Given the description of an element on the screen output the (x, y) to click on. 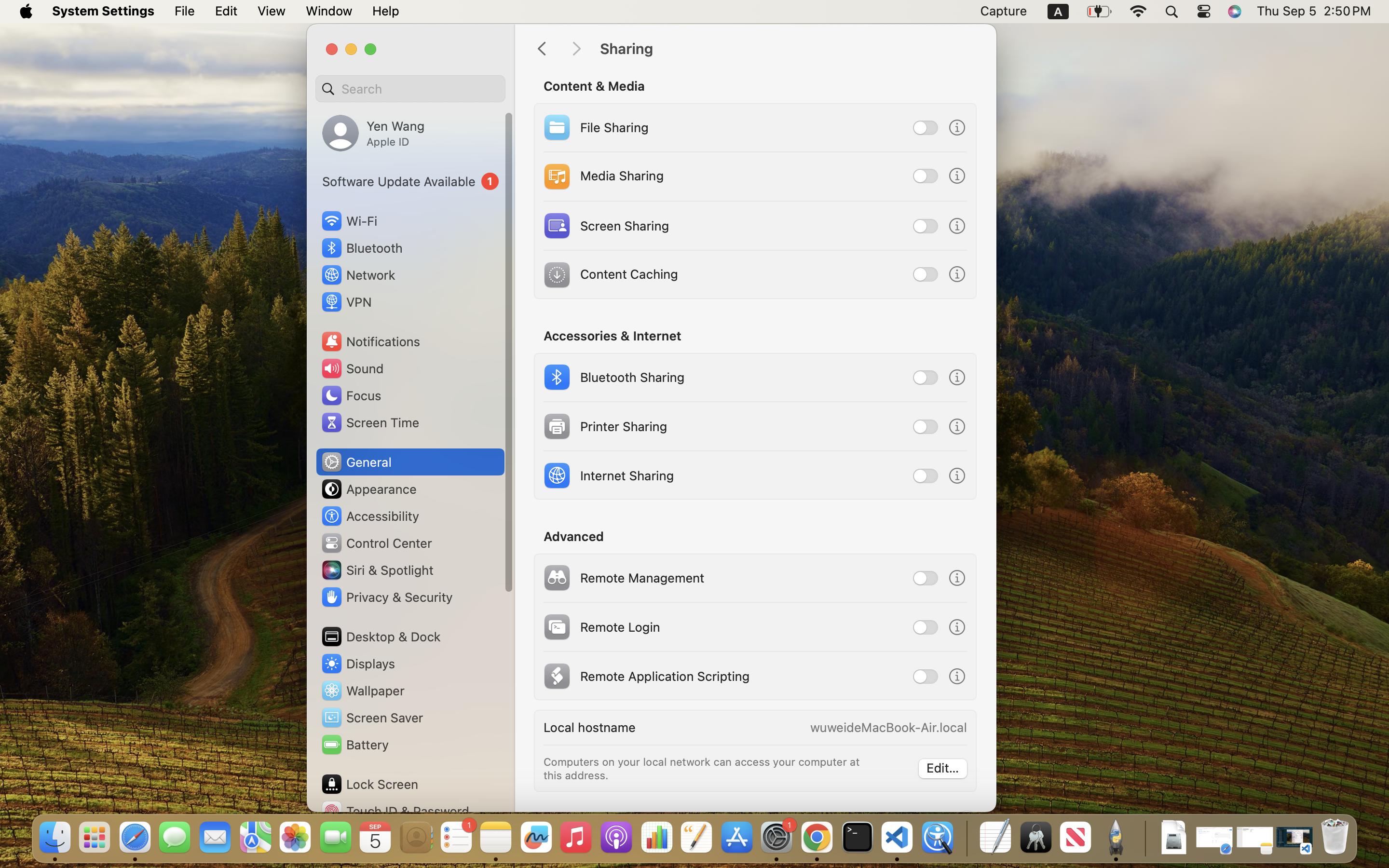
0.4285714328289032 Element type: AXDockItem (965, 837)
Sharing Element type: AXStaticText (788, 49)
VPN Element type: AXStaticText (345, 301)
Focus Element type: AXStaticText (350, 394)
Screen Time Element type: AXStaticText (369, 422)
